Given the description of an element on the screen output the (x, y) to click on. 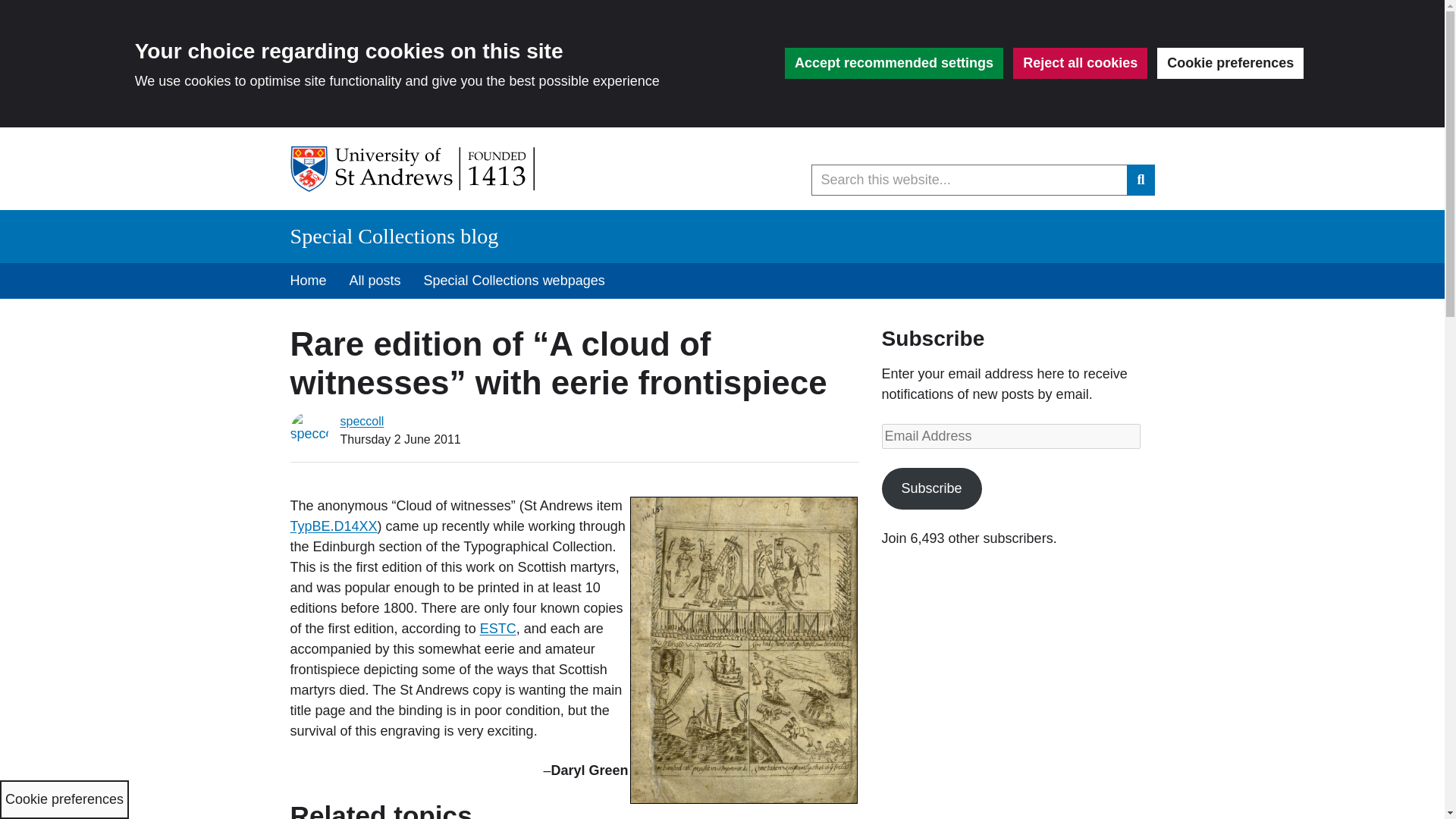
English Short Title Catalogue (498, 628)
All posts (374, 280)
Cookie preferences (1230, 62)
TypBE.D14XX (333, 525)
Subscribe (930, 488)
Special Collections blog (393, 236)
Accept recommended settings (893, 62)
Reject all cookies (1080, 62)
Posts by speccoll (361, 420)
ESTC (498, 628)
